Given the description of an element on the screen output the (x, y) to click on. 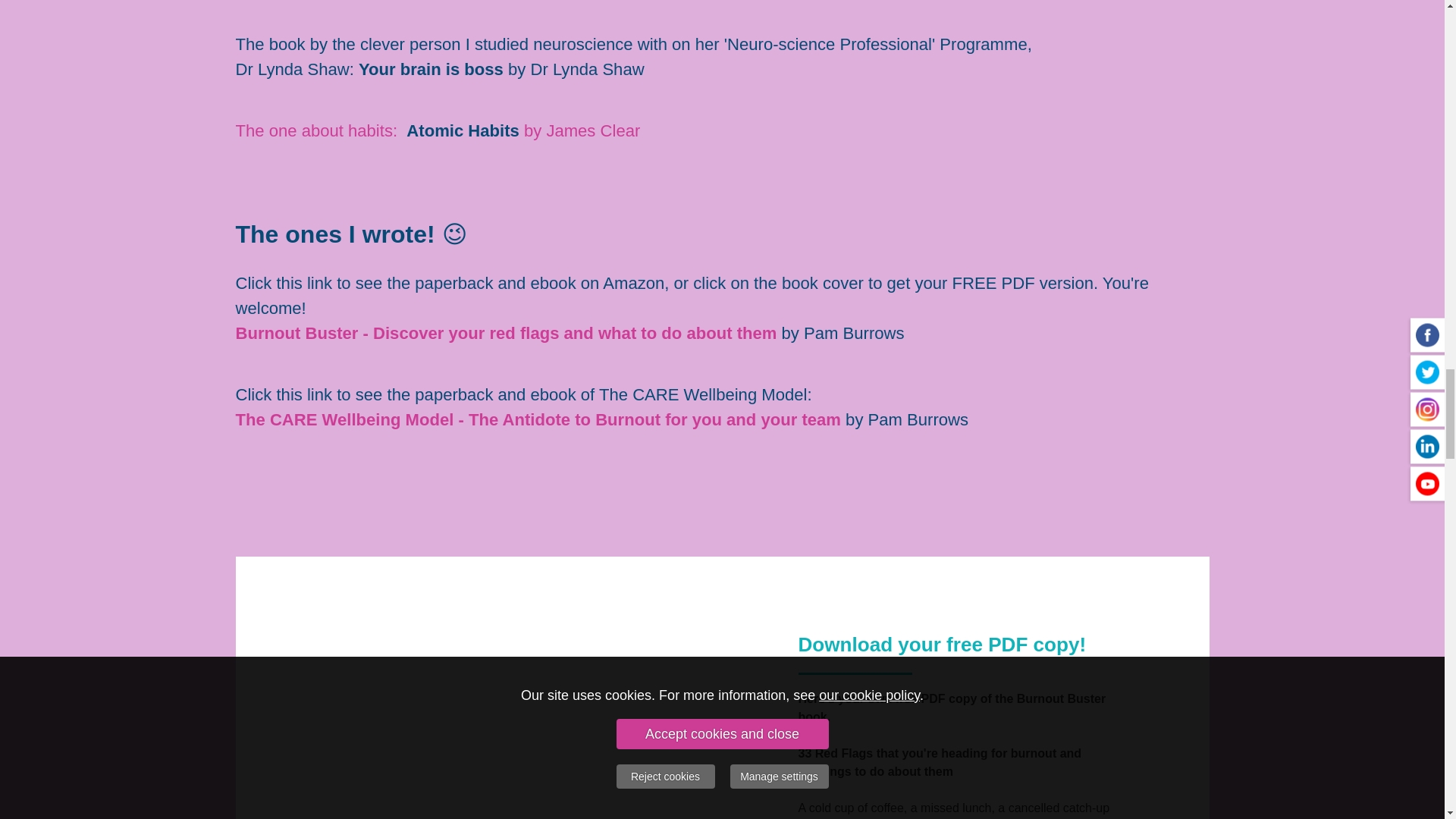
Download your free PDF copy! (941, 646)
Atomic Habits (462, 132)
Your brain is boss (430, 70)
